Given the description of an element on the screen output the (x, y) to click on. 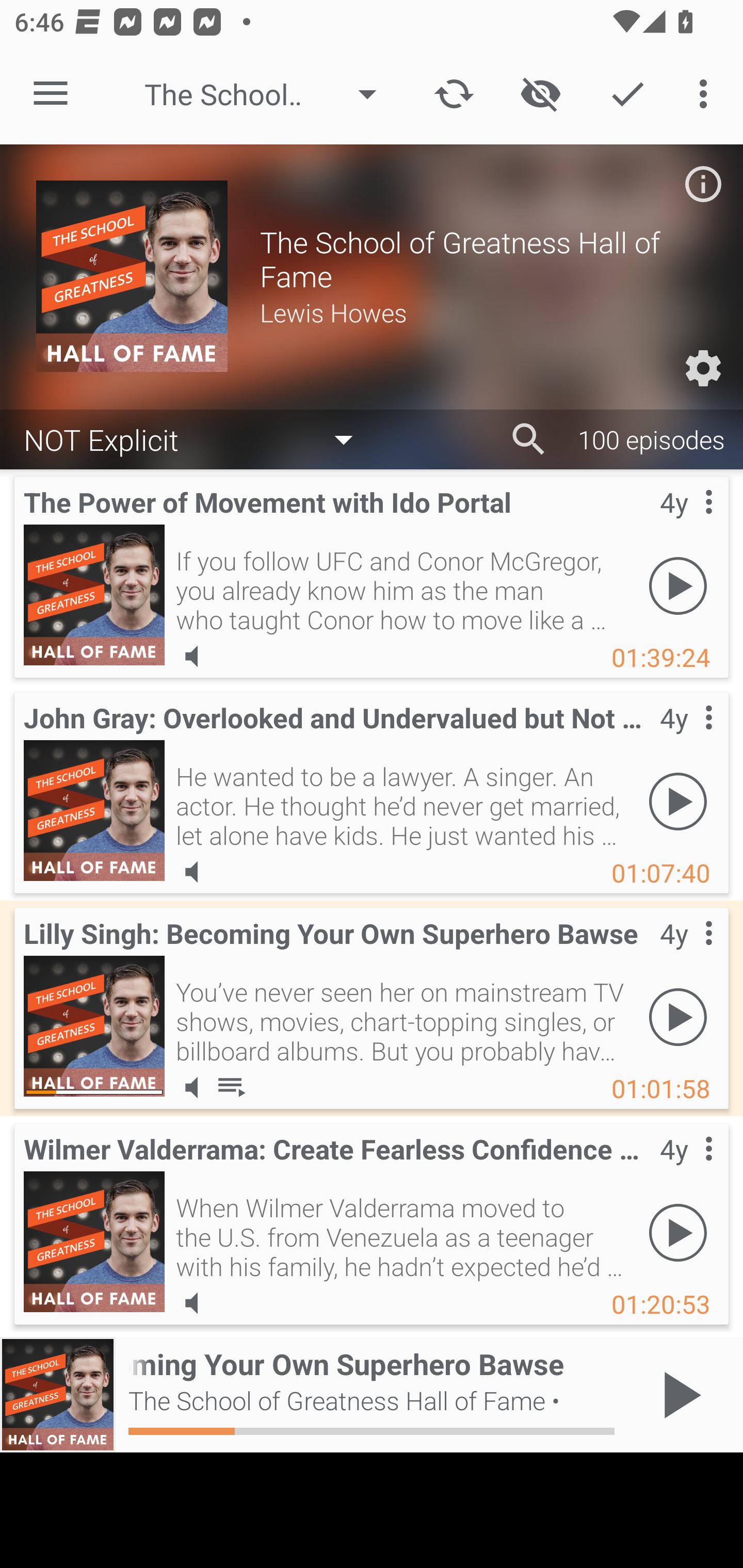
Open navigation sidebar (50, 93)
Update (453, 93)
Show / Hide played content (540, 93)
Action Mode (626, 93)
More options (706, 93)
The School of Greatness Hall of Fame (270, 94)
Podcast description (703, 184)
Lewis Howes (483, 311)
Custom Settings (703, 368)
Search (528, 439)
NOT Explicit (197, 438)
Contextual menu (685, 522)
The Power of Movement with Ido Portal (93, 594)
Play (677, 585)
Contextual menu (685, 738)
Play (677, 801)
Contextual menu (685, 954)
Lilly Singh: Becoming Your Own Superhero Bawse (93, 1026)
Play (677, 1016)
Contextual menu (685, 1169)
Play (677, 1232)
Play / Pause (677, 1394)
